Given the description of an element on the screen output the (x, y) to click on. 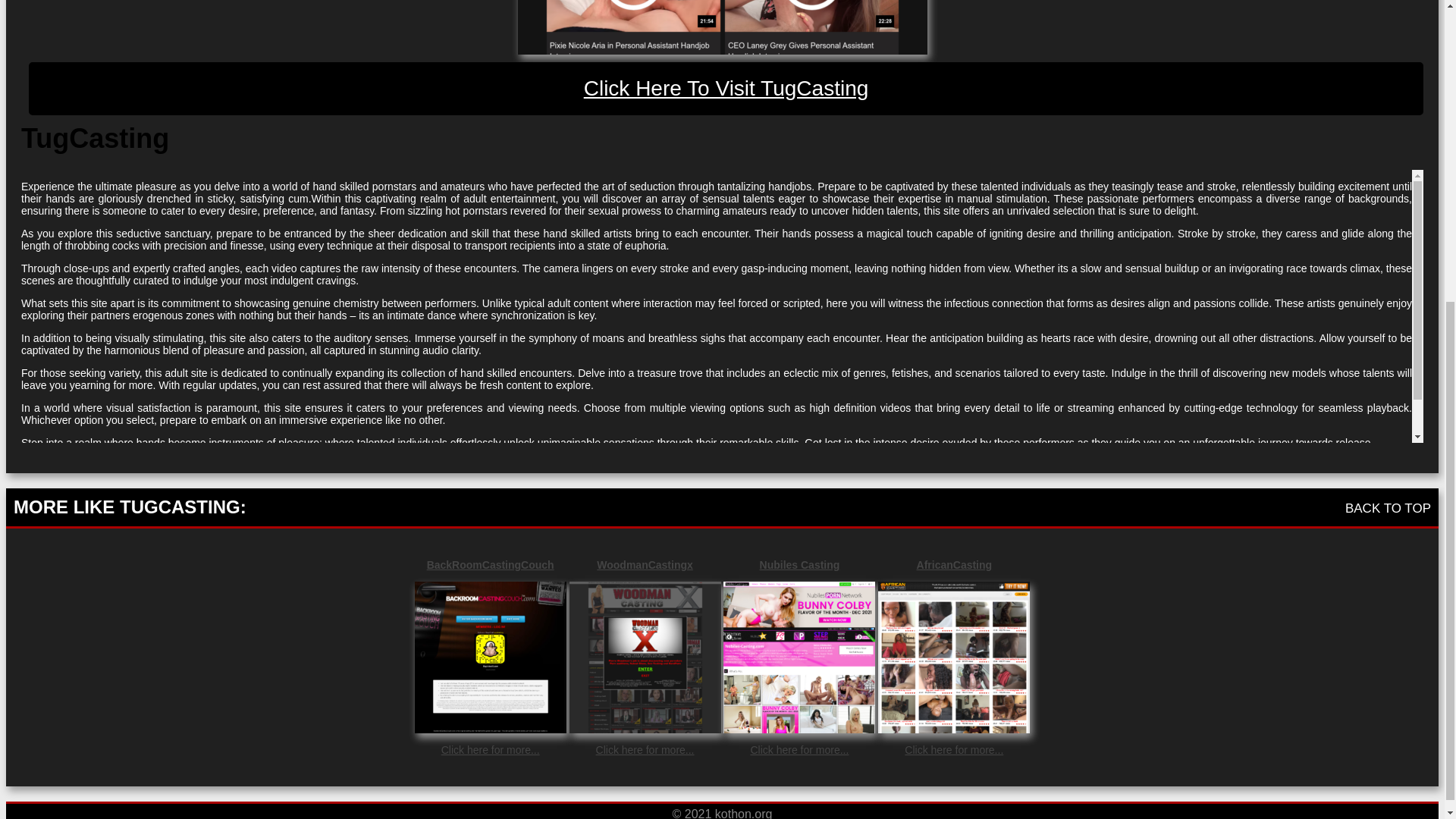
Nubiles Casting (799, 564)
Click here for more... (644, 749)
TugCasting (721, 27)
AfricanCasting (953, 564)
Click here for more... (798, 749)
BACK TO TOP (1388, 508)
BackRoomCastingCouch (490, 564)
WoodmanCastingx (644, 564)
Click Here To Visit TugCasting (726, 88)
Click here for more... (490, 749)
TugCasting (722, 27)
TugCasting (726, 88)
Click here for more... (953, 749)
